Given the description of an element on the screen output the (x, y) to click on. 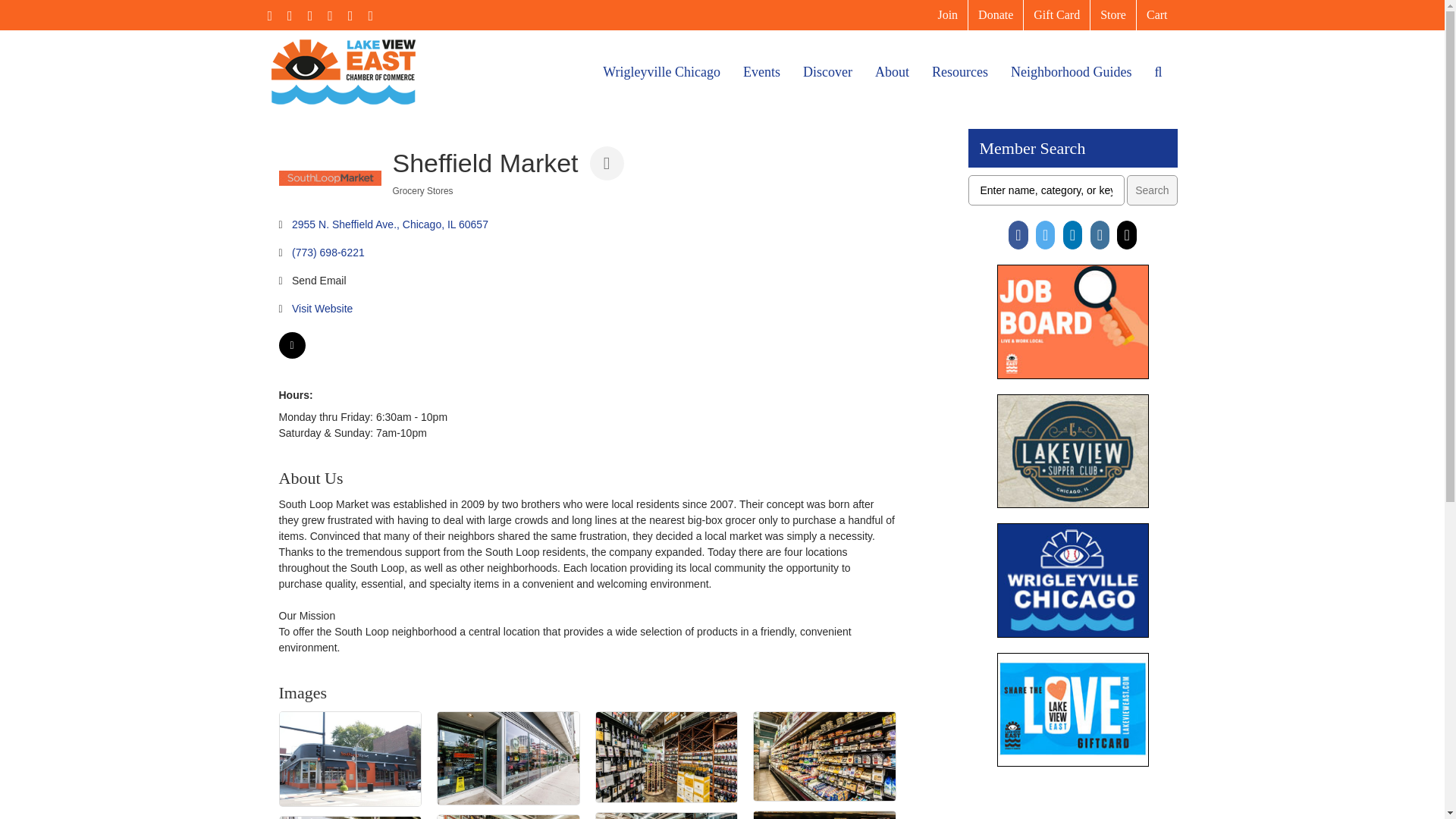
Gift Card (1056, 15)
Wrigleyville Chicago (661, 71)
Gallery Image store3.JPG (508, 757)
Gallery Image store1.JPG (349, 817)
Store (1112, 15)
Search (1151, 190)
View on Twitter (292, 354)
Cart (1157, 15)
Donate (995, 15)
Sheffield Market (330, 177)
Join (947, 15)
Search (1151, 190)
